Given the description of an element on the screen output the (x, y) to click on. 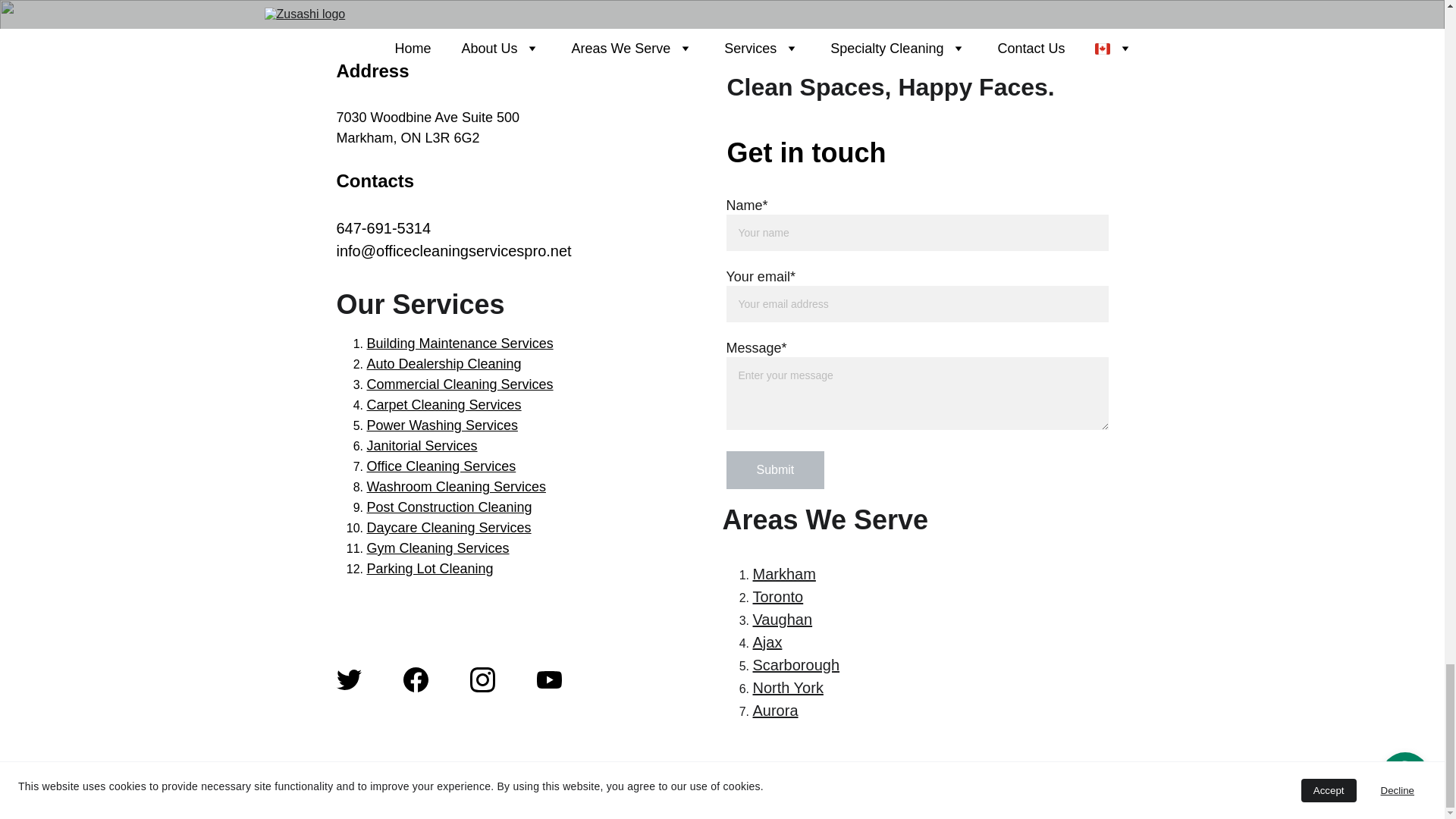
Go to Instagram page (482, 679)
Go to Youtube page (549, 679)
Go to Twitter page (348, 679)
Go to Facebook page (415, 679)
